Given the description of an element on the screen output the (x, y) to click on. 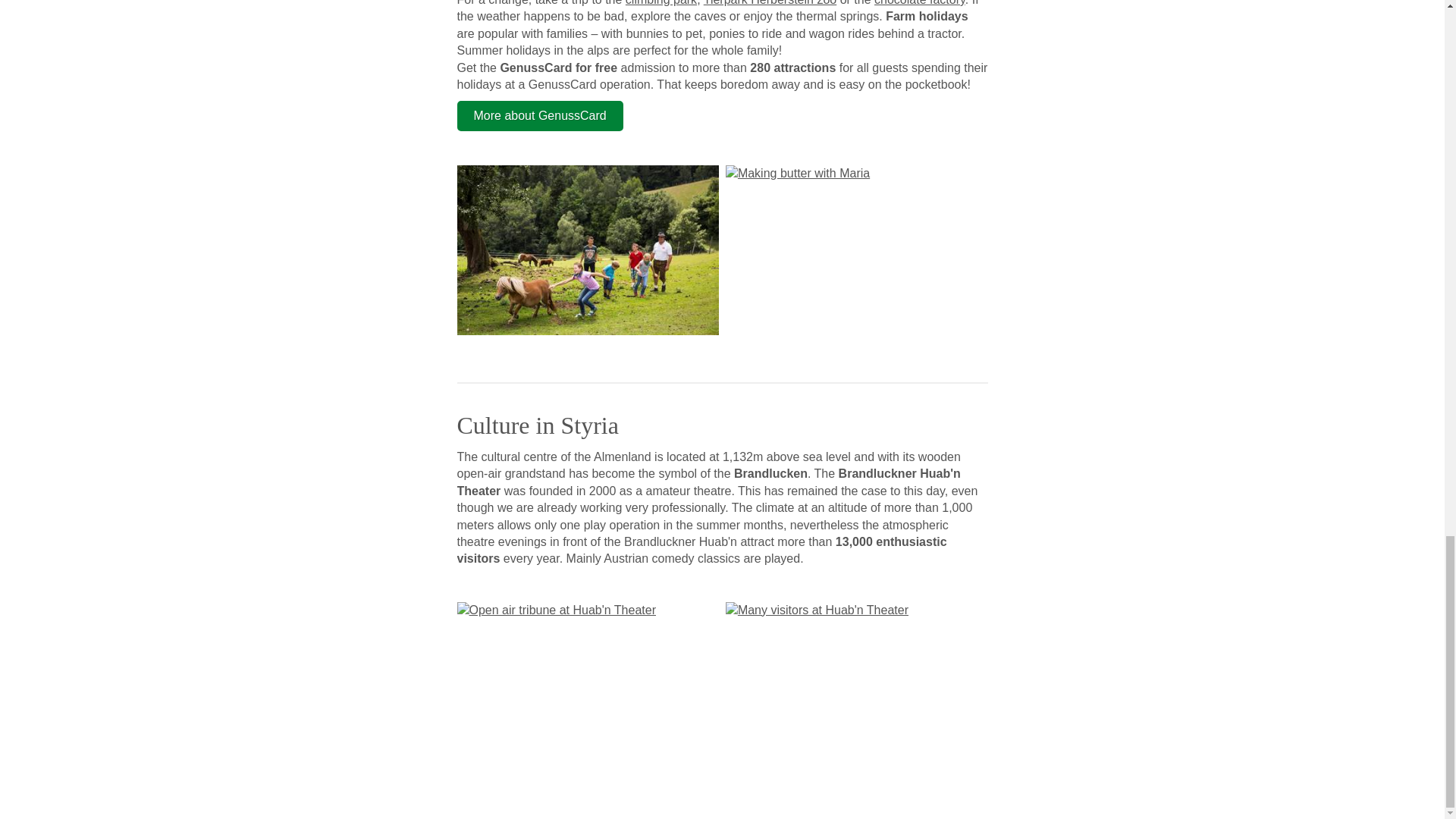
chocolate factory (920, 2)
More about GenussCard (540, 115)
Tierpark Herberstein zoo (769, 2)
to the chocolate factory (920, 2)
climbing park (661, 2)
to the animal park Herberstein (769, 2)
More about GenussCard (540, 115)
to the climbing park (661, 2)
